Given the description of an element on the screen output the (x, y) to click on. 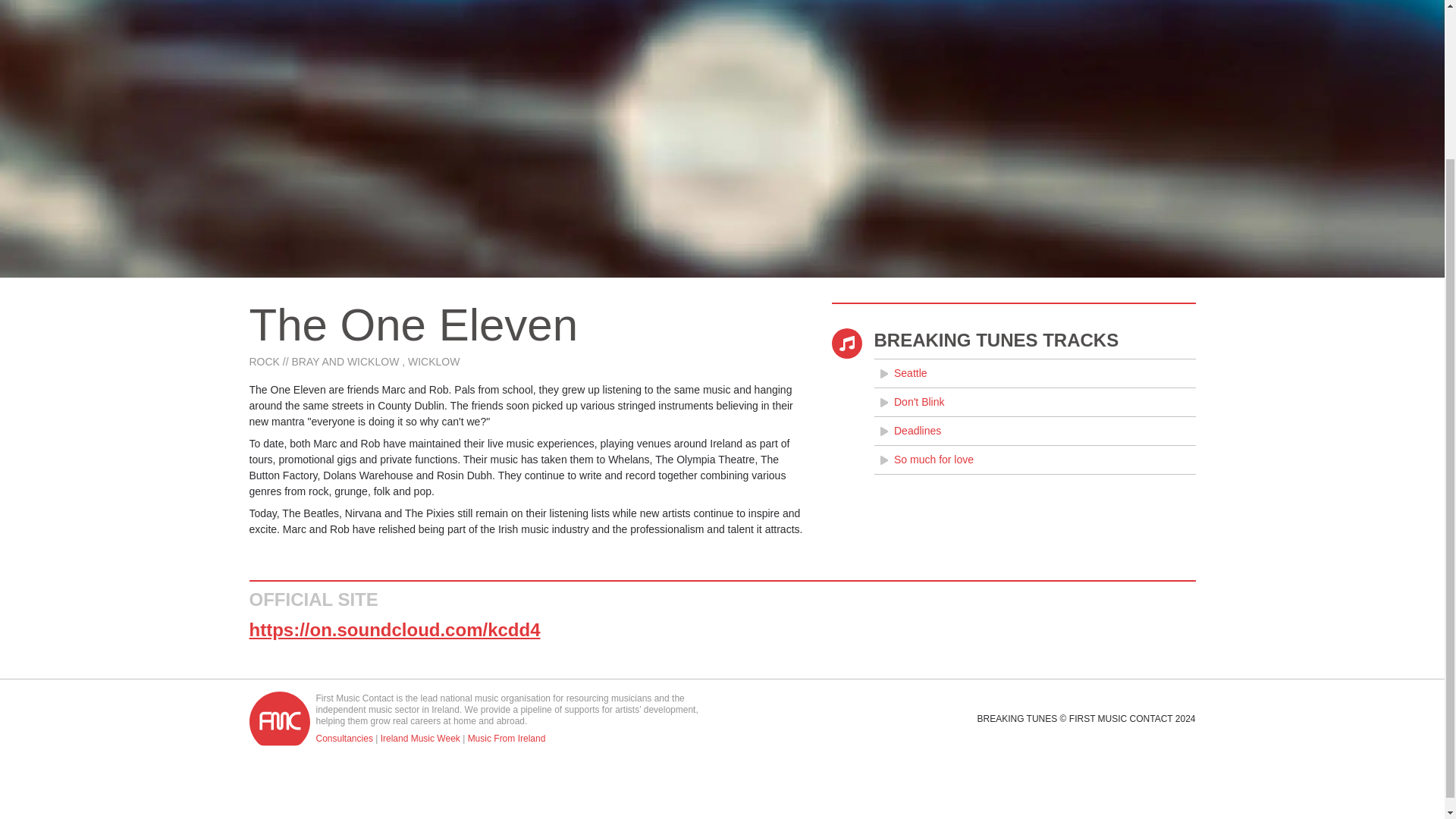
So much for love (1034, 459)
Ireland Music Week (420, 738)
Deadlines (1034, 430)
Don't Blink (1034, 402)
Consultancies (343, 738)
Seattle (1034, 373)
Music From Ireland (506, 738)
